Given the description of an element on the screen output the (x, y) to click on. 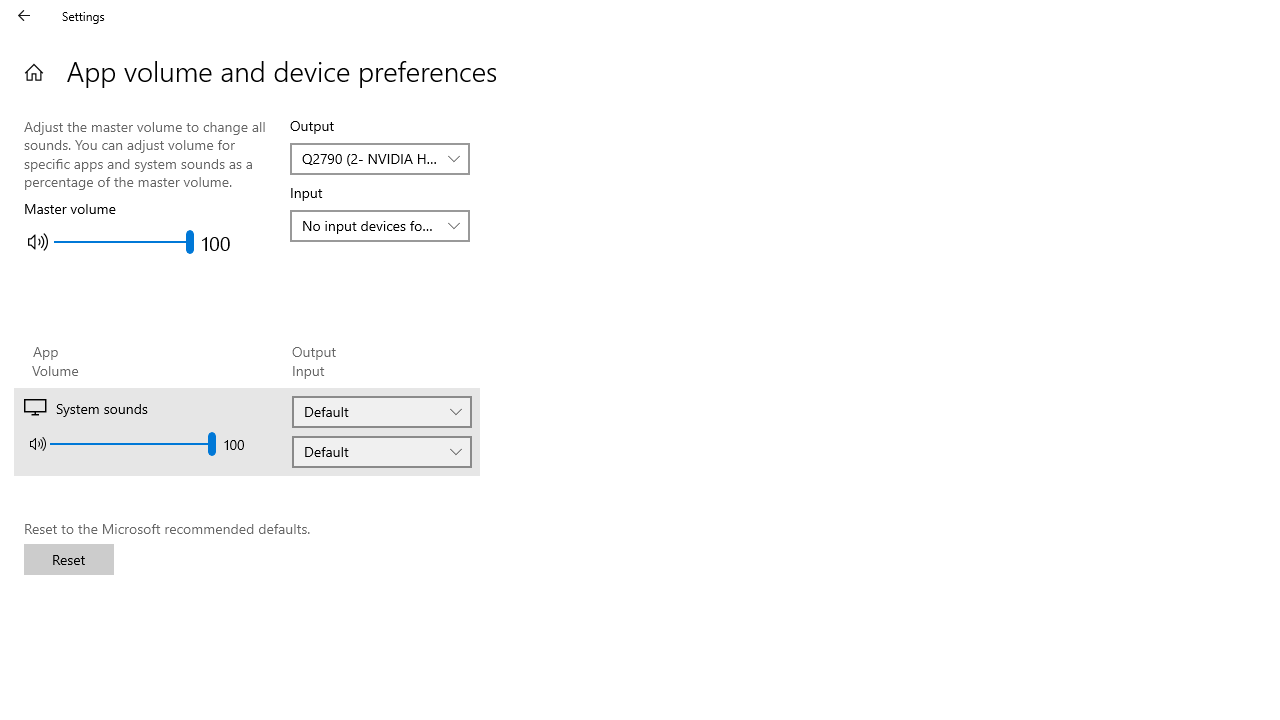
Back (24, 15)
Adjust the output volume (132, 443)
Mute app (37, 443)
System sounds (513, 431)
Reset to the Microsoft recommended defaults. (68, 559)
Q2790 (2- NVIDIA High Definition Audio) (369, 158)
Input (381, 452)
Default (326, 451)
Mute master volume (38, 242)
No input devices found (369, 225)
Home (33, 71)
Output (381, 411)
Adjust the master output volume (123, 241)
